Given the description of an element on the screen output the (x, y) to click on. 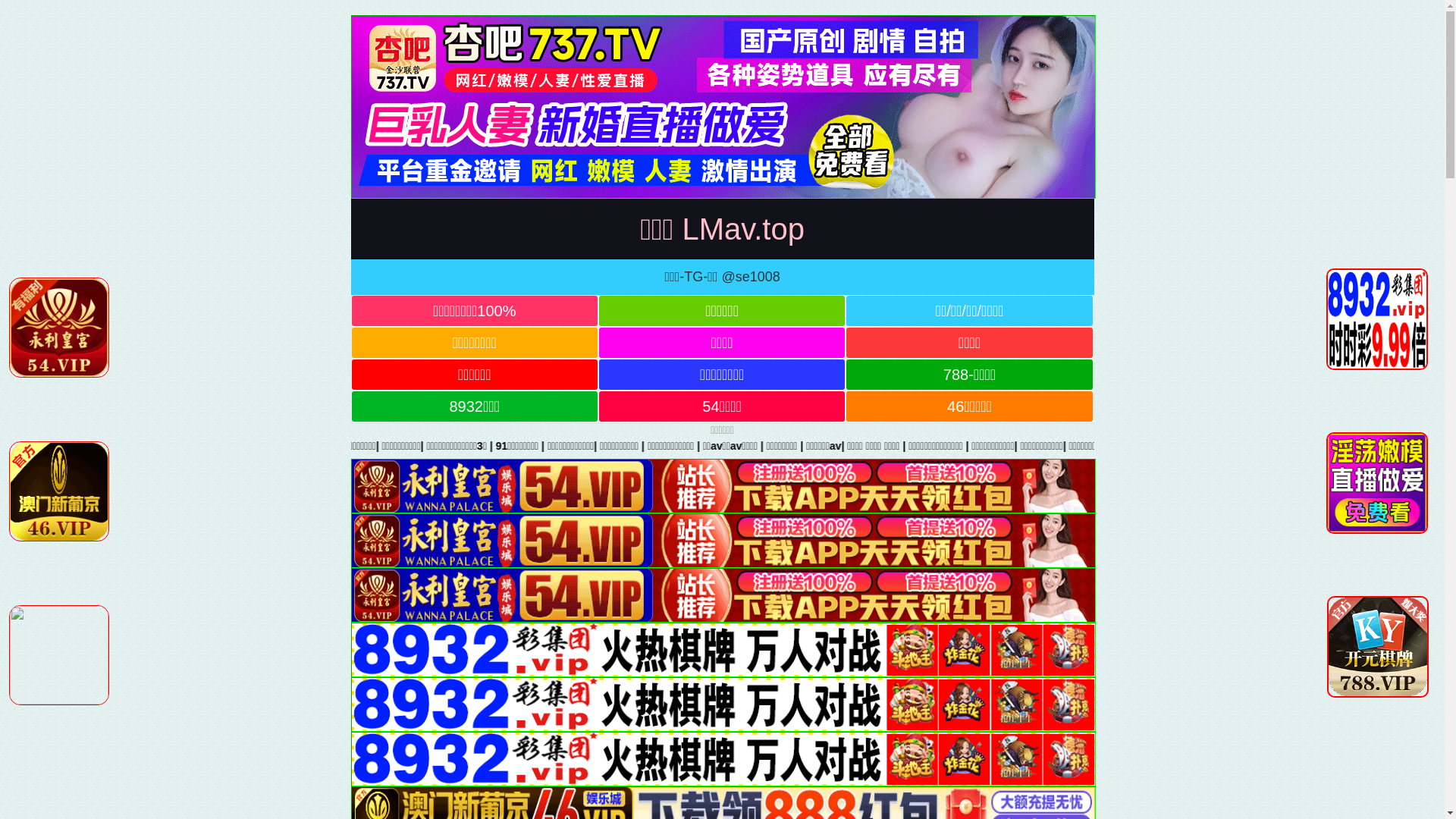
| Element type: text (999, 445)
| Element type: text (1061, 445)
| Element type: text (689, 445)
| Element type: text (1305, 445)
| Element type: text (1424, 445)
| Element type: text (899, 445)
| Element type: text (945, 445)
| Element type: text (1197, 445)
| Element type: text (800, 445)
| Element type: text (1388, 445)
| Element type: text (553, 445)
| Element type: text (849, 445)
| Element type: text (732, 445)
| Element type: text (1099, 445)
| Element type: text (1138, 445)
| Element type: text (525, 445)
| Element type: text (647, 445)
| Element type: text (1258, 445)
| Element type: text (1351, 445)
| Element type: text (596, 445)
